Given the description of an element on the screen output the (x, y) to click on. 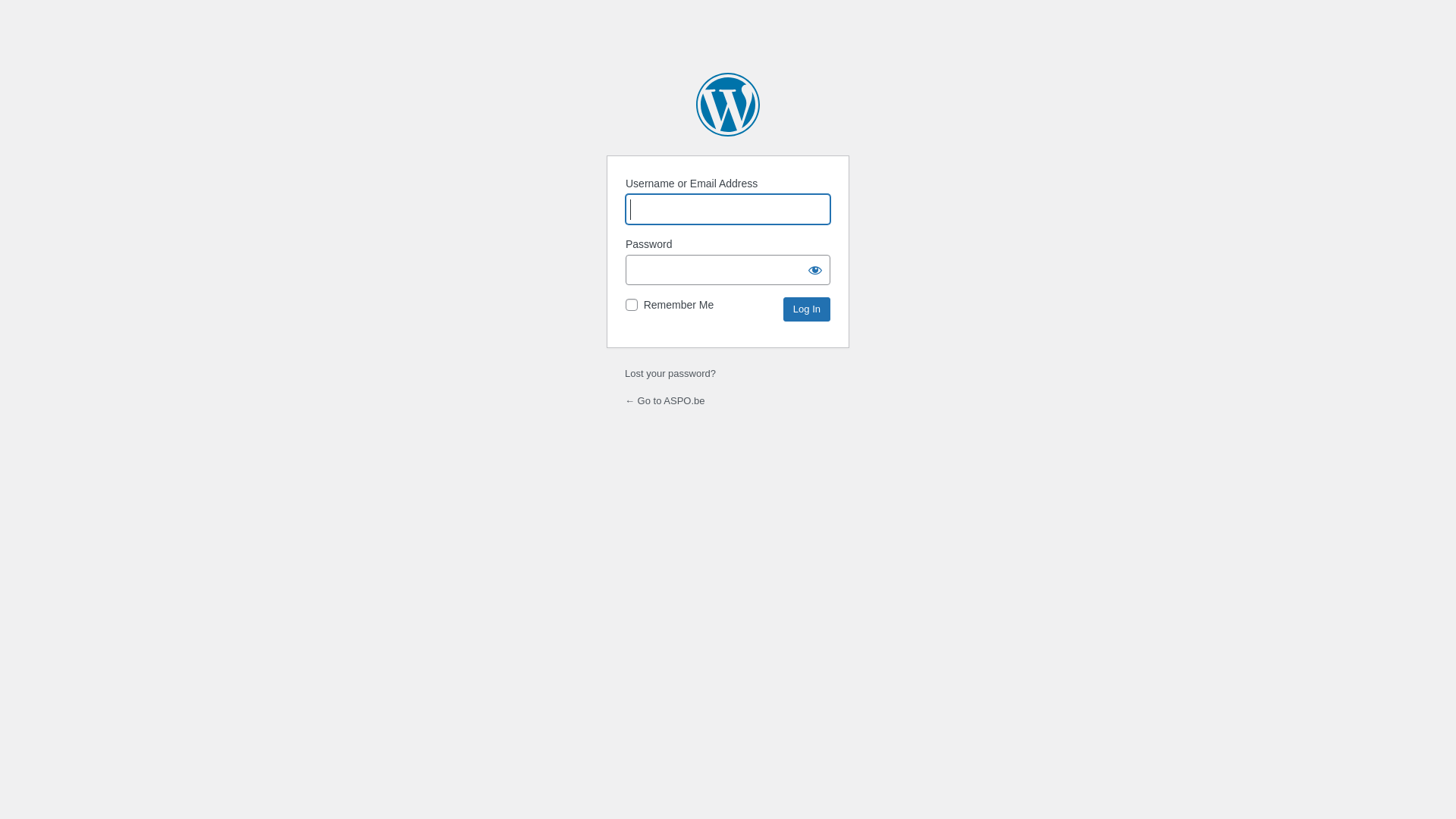
Powered by WordPress Element type: text (727, 104)
Lost your password? Element type: text (669, 373)
Log In Element type: text (806, 309)
